Given the description of an element on the screen output the (x, y) to click on. 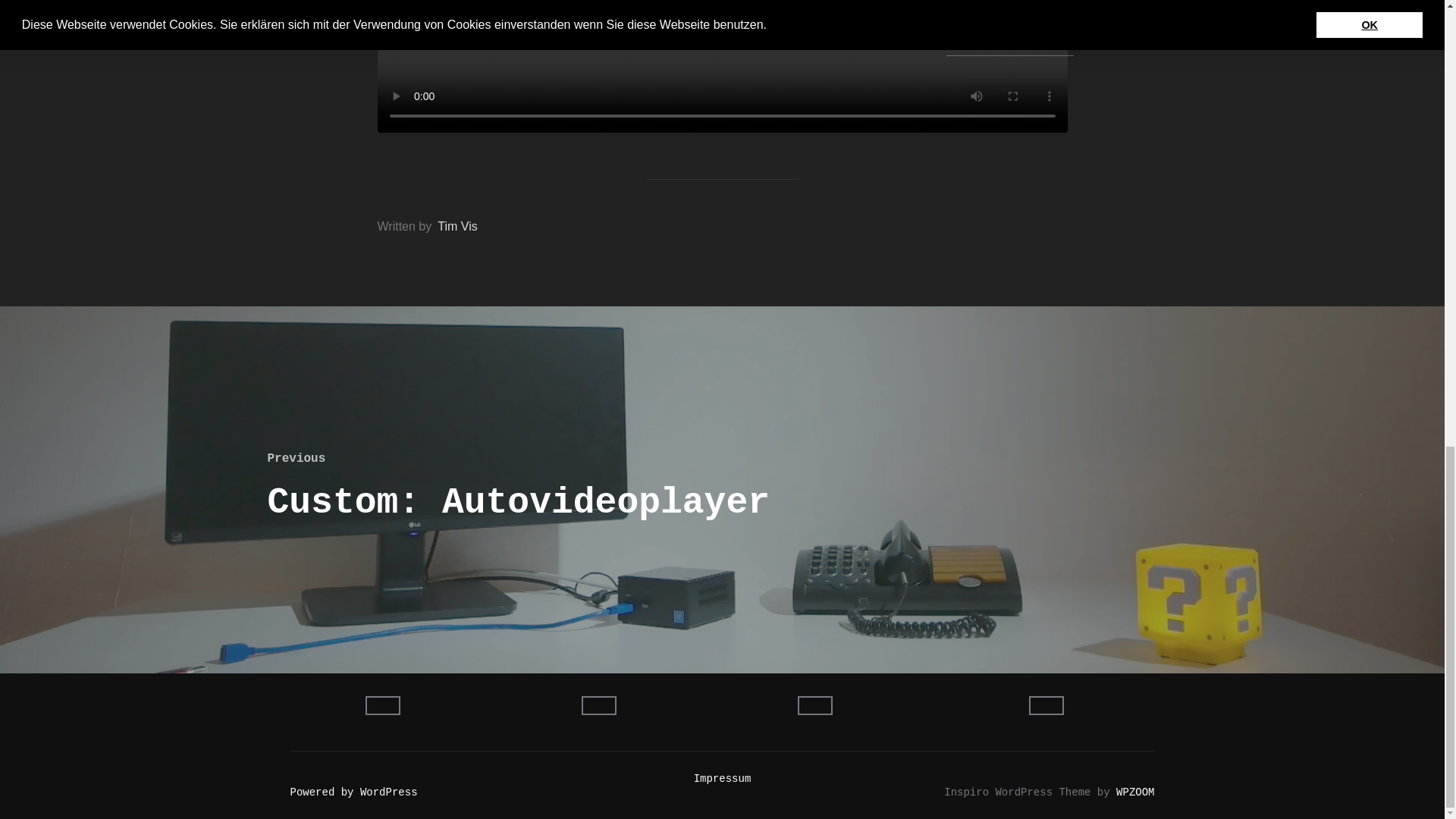
Impressum (722, 778)
Posts by Tim Vis (457, 226)
Powered by WordPress (352, 792)
WPZOOM (1135, 792)
Tim Vis (457, 226)
